Given the description of an element on the screen output the (x, y) to click on. 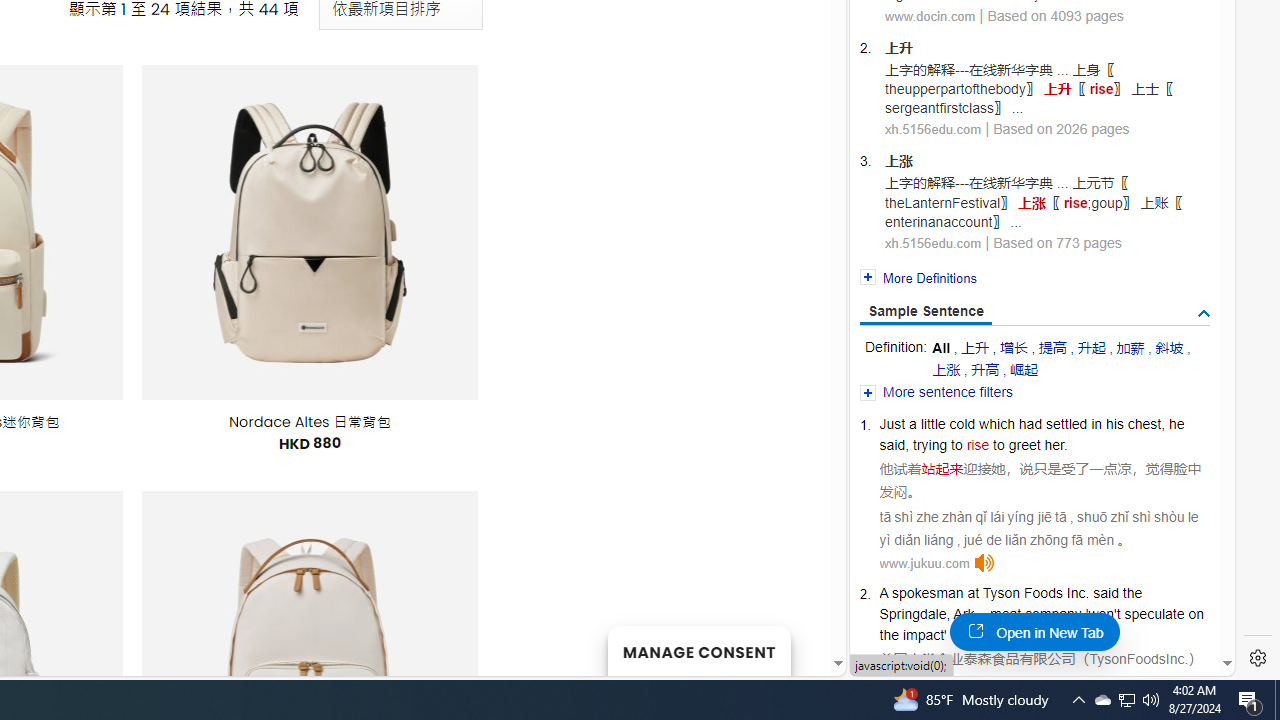
Based on 4093 pages (1054, 15)
MANAGE CONSENT (698, 650)
, (948, 614)
AutomationID: tgdef_sen (1203, 314)
had (1030, 424)
